Given the description of an element on the screen output the (x, y) to click on. 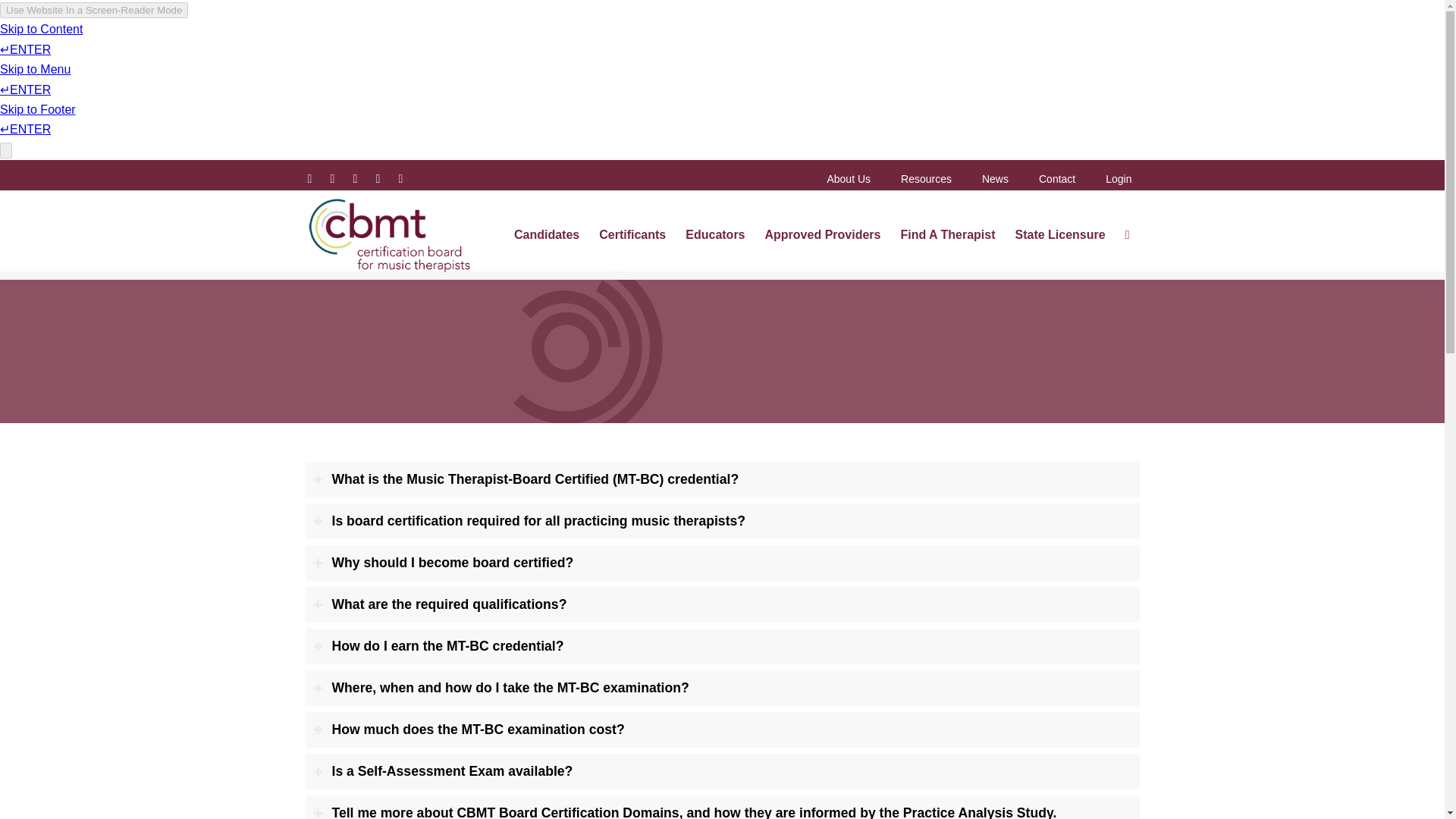
Certificants (632, 234)
Educators (714, 234)
Login (1117, 178)
X (309, 178)
Find A Therapist (946, 234)
News (995, 178)
Facebook (332, 178)
Candidates (546, 234)
Approved Providers (823, 234)
About Us (847, 178)
